Given the description of an element on the screen output the (x, y) to click on. 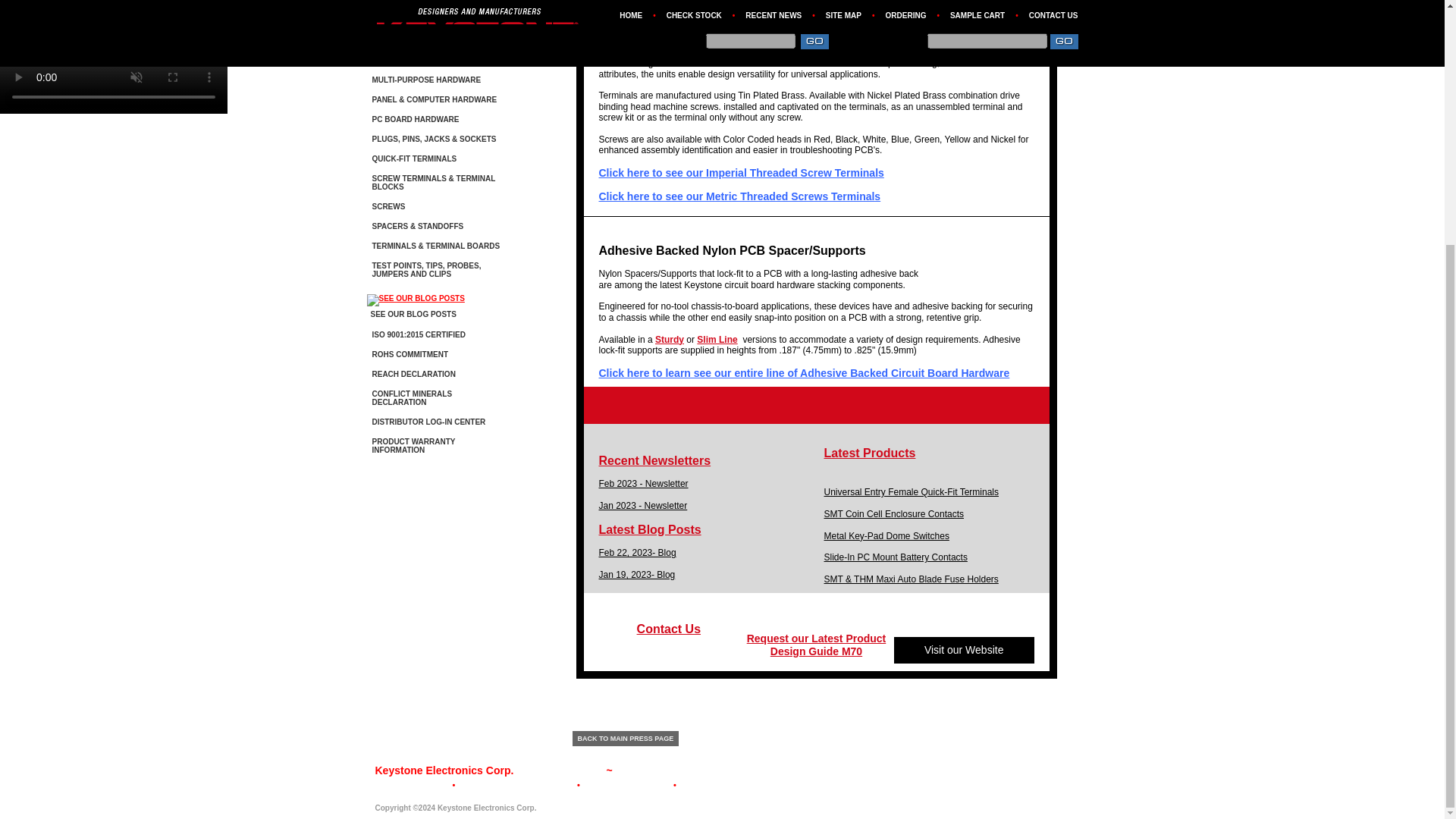
Slide-In PC Mount Battery Contacts (895, 557)
Feb 22, 2023- Blog (637, 552)
BACK TO MAIN PRESS PAGE (625, 738)
Request our Latest Product Design Guide M70 (816, 644)
Metal Key-Pad Dome Switches (886, 535)
Jan 2023 - Newsletter (642, 505)
SMT Coin Cell Enclosure Contacts (893, 513)
Slim Line (716, 338)
Visit our Website (964, 649)
Feb 2023 - Newsletter (643, 483)
Click here to see our Metric Threaded Screws Terminals (739, 196)
Contact Us (668, 628)
Sturdy (669, 338)
Universal Entry Female Quick-Fit Terminals (911, 491)
